Given the description of an element on the screen output the (x, y) to click on. 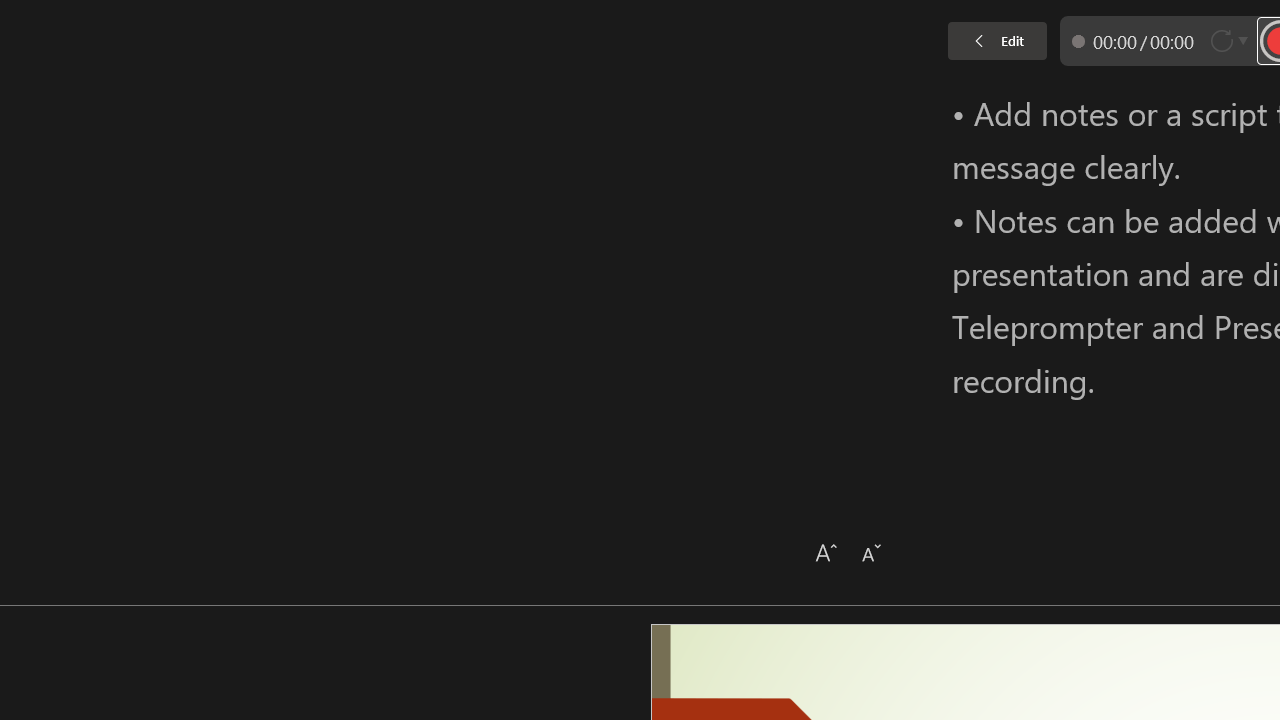
From Current Slide... (224, 102)
Save as Show (539, 102)
Screen Recording (290, 102)
